Given the description of an element on the screen output the (x, y) to click on. 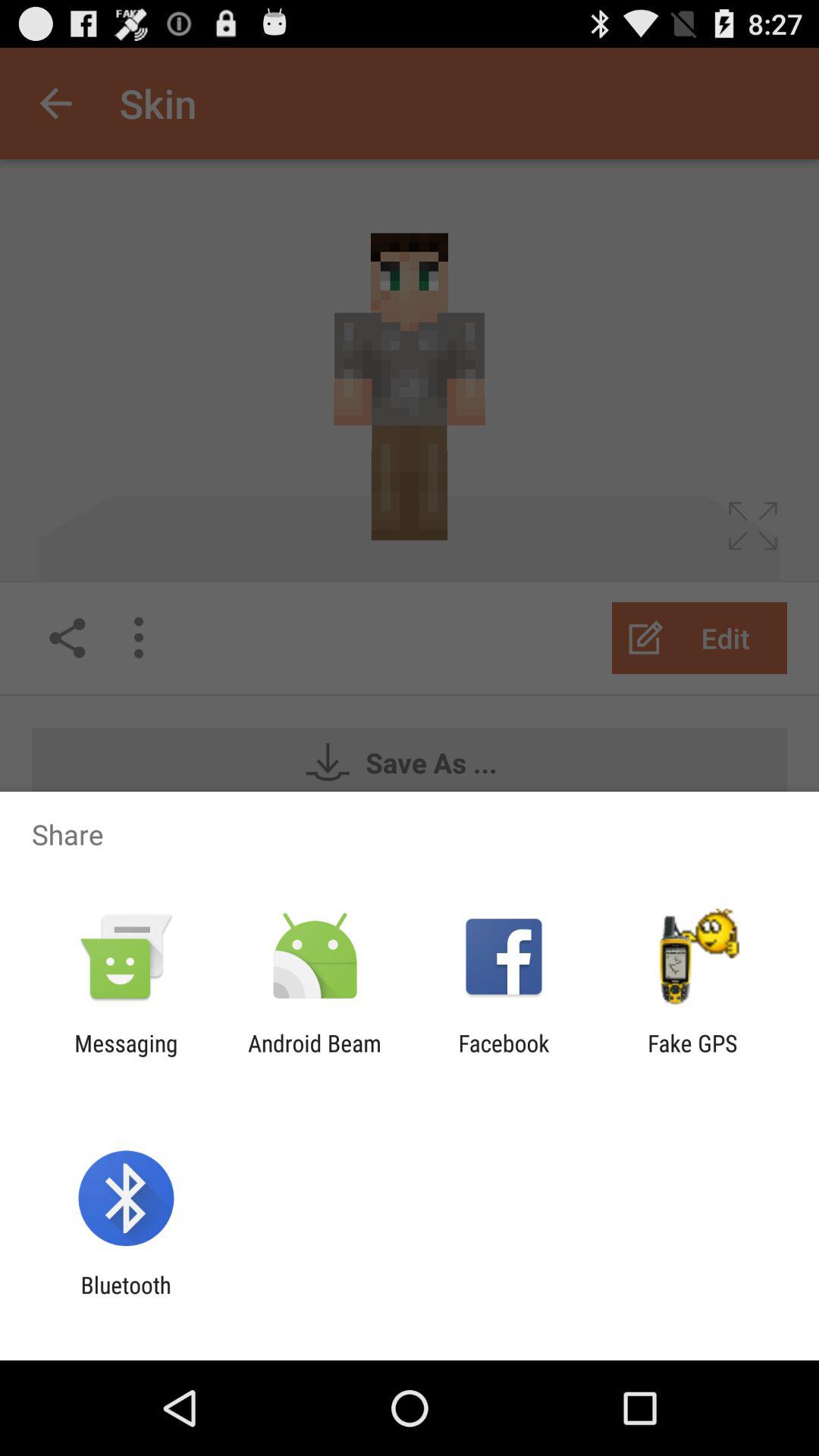
open icon at the bottom right corner (692, 1056)
